Given the description of an element on the screen output the (x, y) to click on. 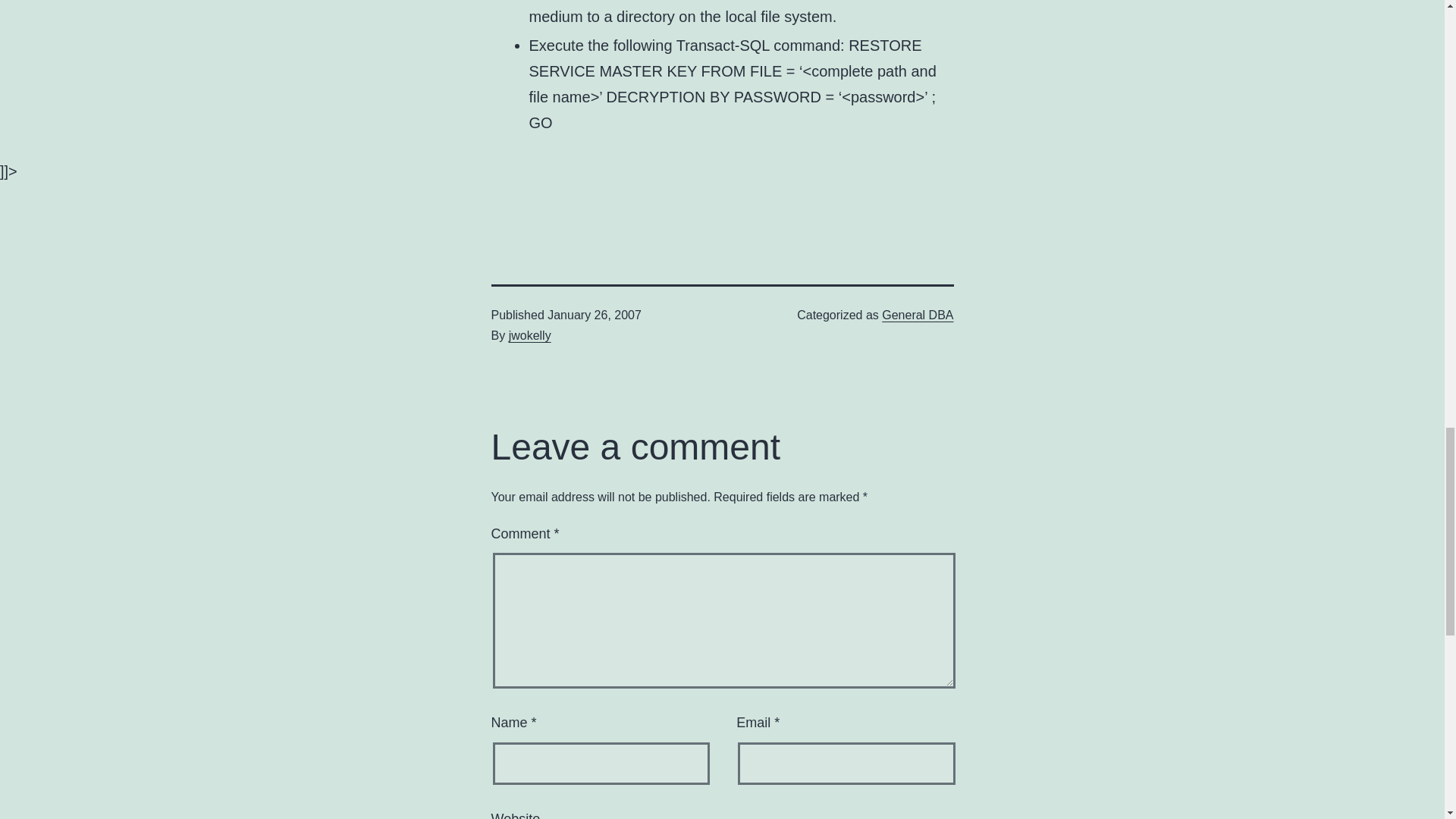
General DBA (917, 314)
jwokelly (529, 335)
